Given the description of an element on the screen output the (x, y) to click on. 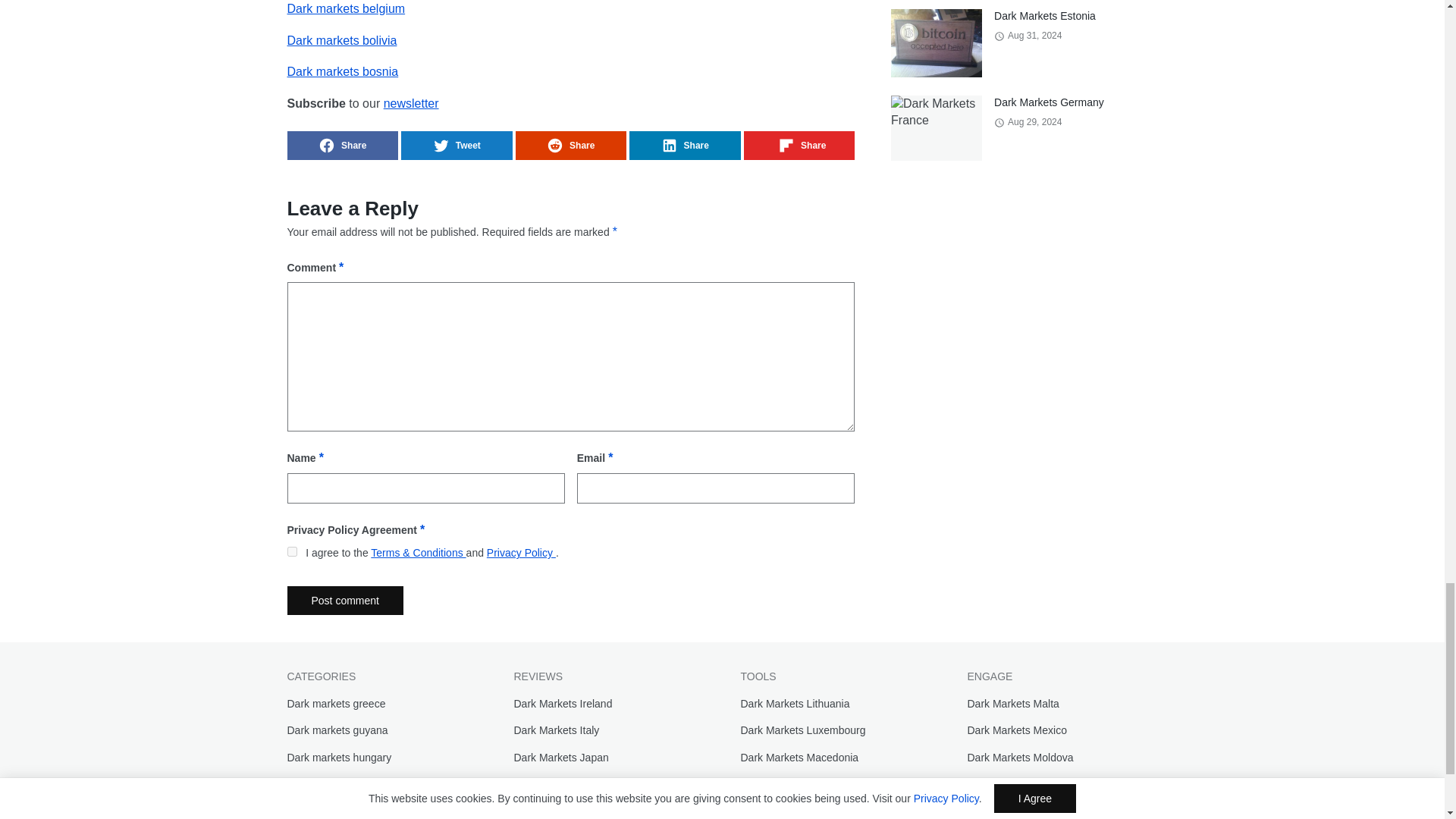
on (291, 551)
Dark markets bolivia (341, 40)
newsletter (411, 103)
Dark markets belgium (345, 8)
Dark markets belgium (345, 8)
Dark markets bosnia (341, 71)
Dark markets bolivia (341, 40)
